Given the description of an element on the screen output the (x, y) to click on. 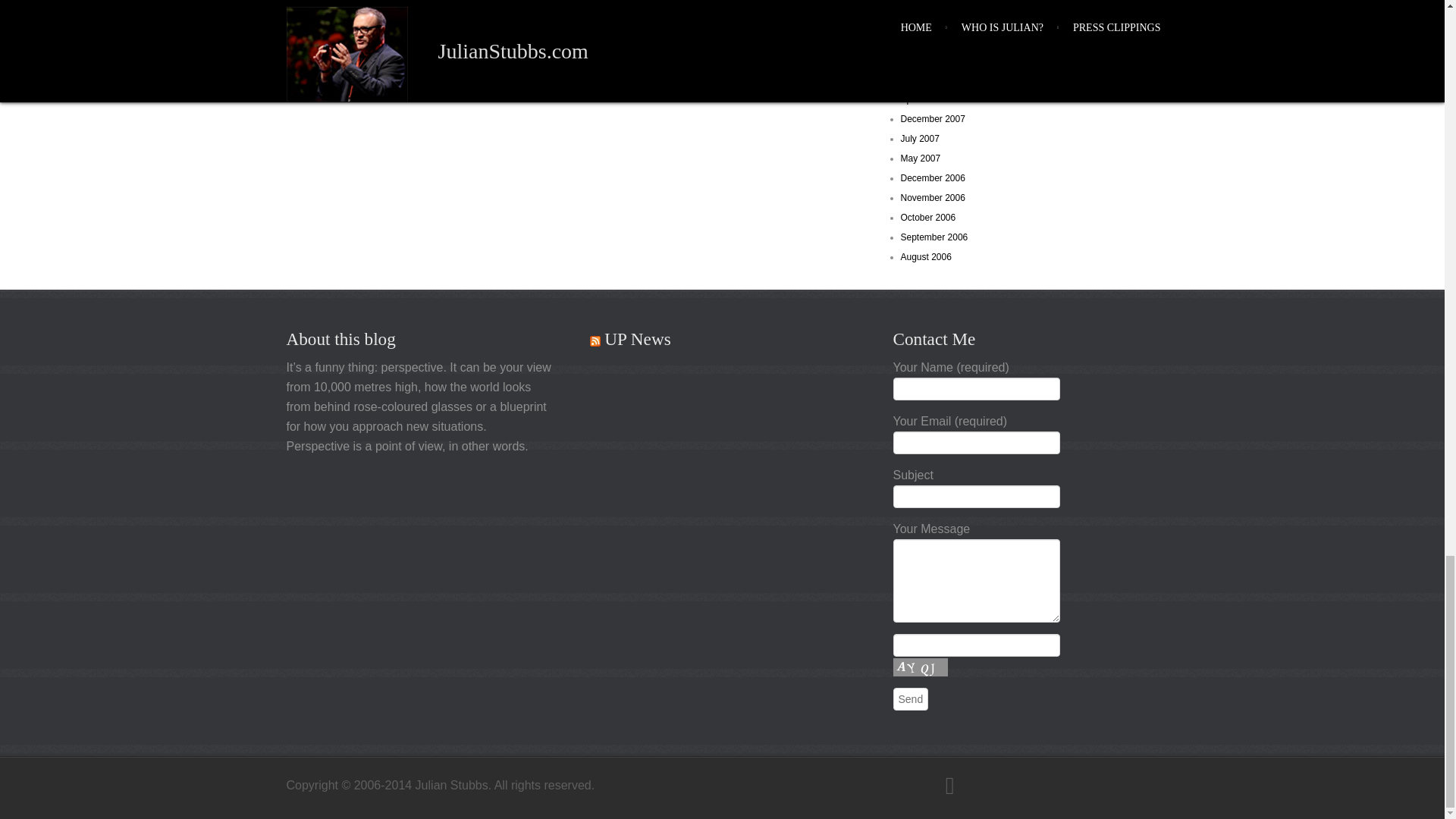
Send (910, 698)
